Given the description of an element on the screen output the (x, y) to click on. 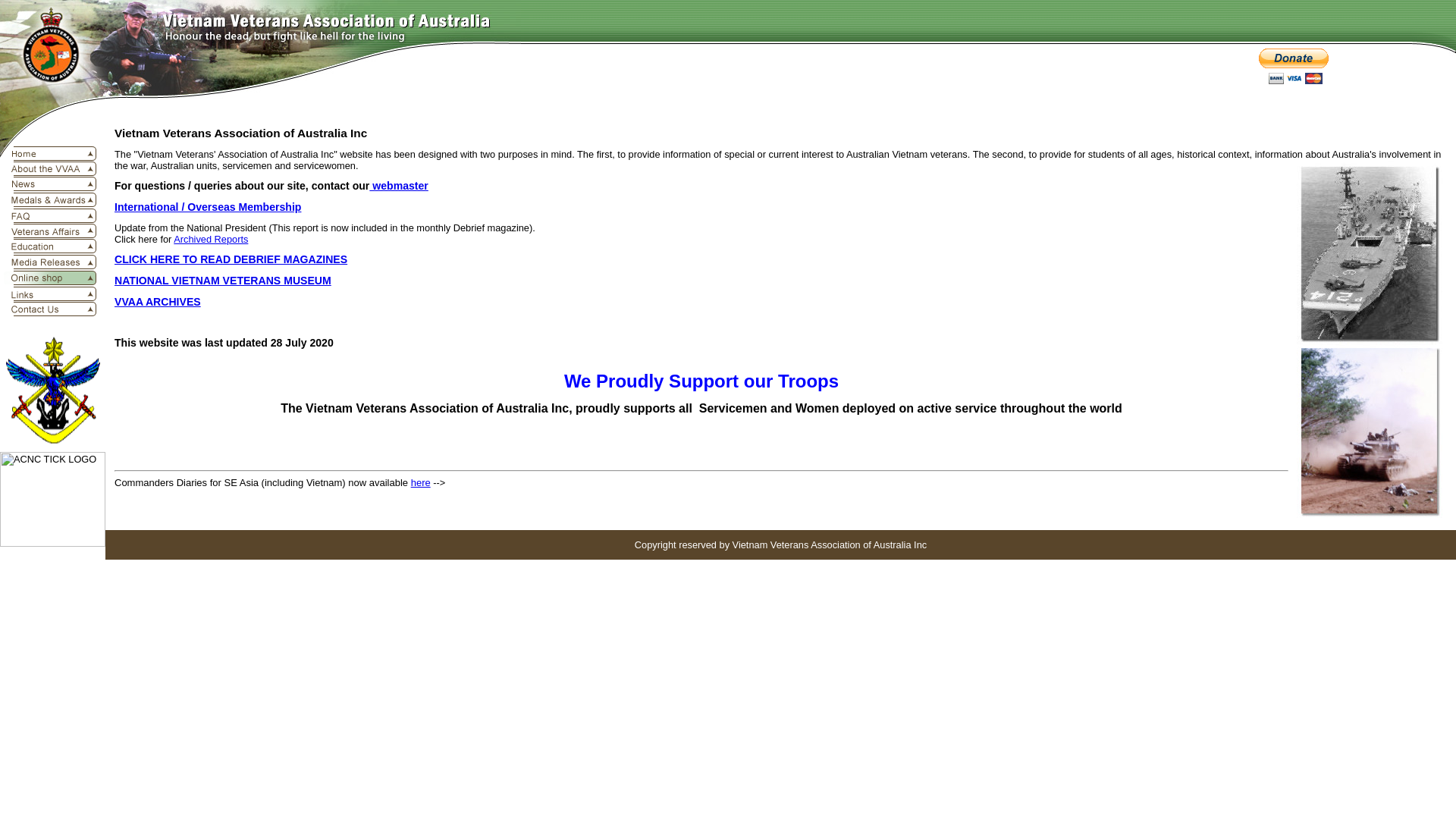
here Element type: text (420, 482)
Archived Reports Element type: text (210, 238)
CLICK HERE TO READ DEBRIEF MAGAZINES Element type: text (780, 259)
NATIONAL VIETNAM VETERANS MUSEUM Element type: text (222, 280)
International / Overseas Membership Element type: text (207, 206)
webmaster Element type: text (398, 185)
VVAA ARCHIVES Element type: text (157, 301)
PayPal - The safer, easier way to pay online! Element type: hover (1293, 66)
